Given the description of an element on the screen output the (x, y) to click on. 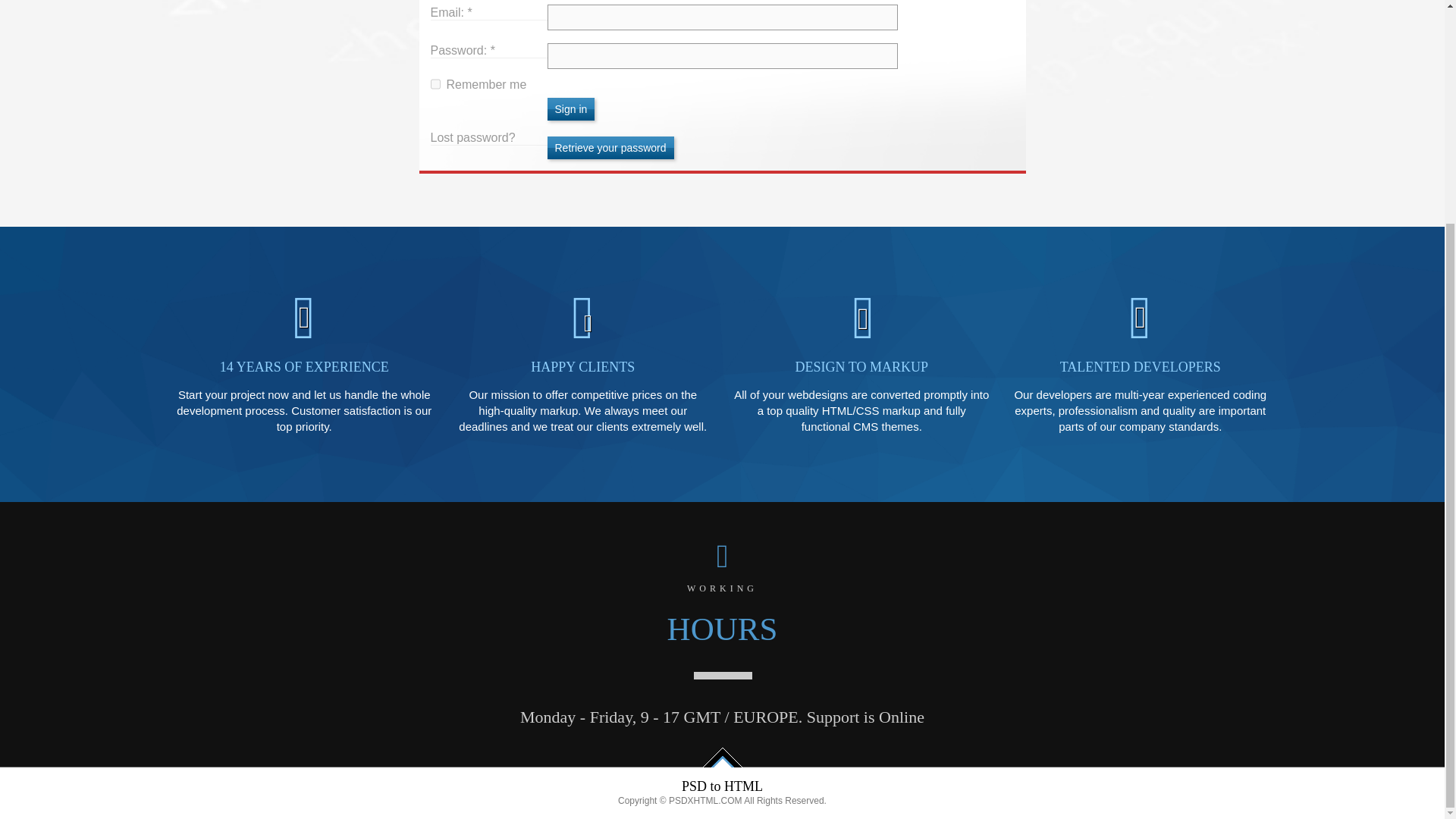
Sign in (571, 108)
Sign in (571, 108)
Retrieve your password (610, 147)
